Given the description of an element on the screen output the (x, y) to click on. 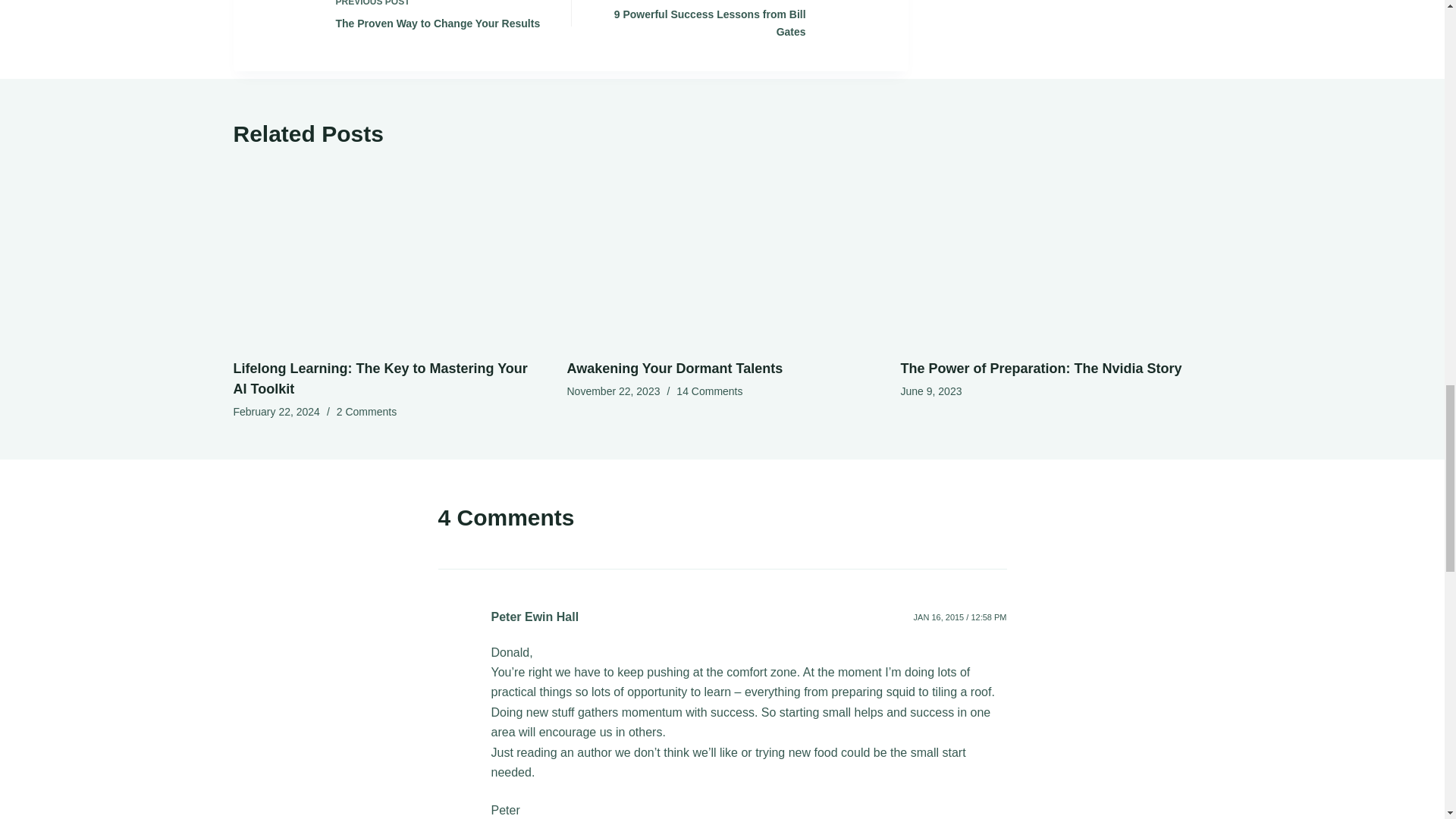
14 Comments (709, 390)
Awakening Your Dormant Talents (675, 368)
Peter Ewin Hall (405, 20)
Lifelong Learning: The Key to Mastering Your AI Toolkit (736, 20)
2 Comments (535, 616)
The Power of Preparation: The Nvidia Story (379, 378)
